Given the description of an element on the screen output the (x, y) to click on. 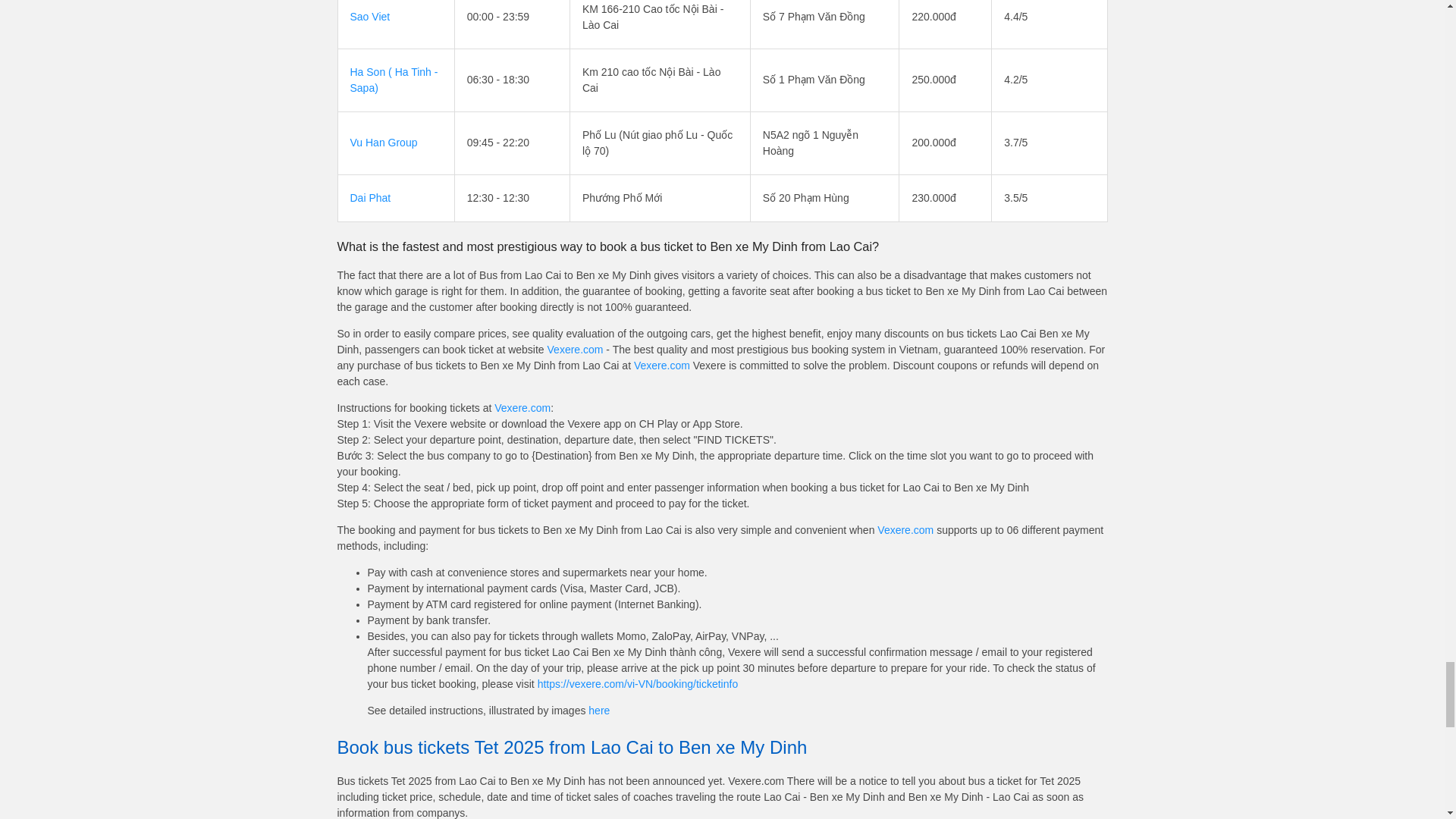
Book bus tickets Tet 2025 from Lao Cai to Ben xe My Dinh (721, 747)
